Given the description of an element on the screen output the (x, y) to click on. 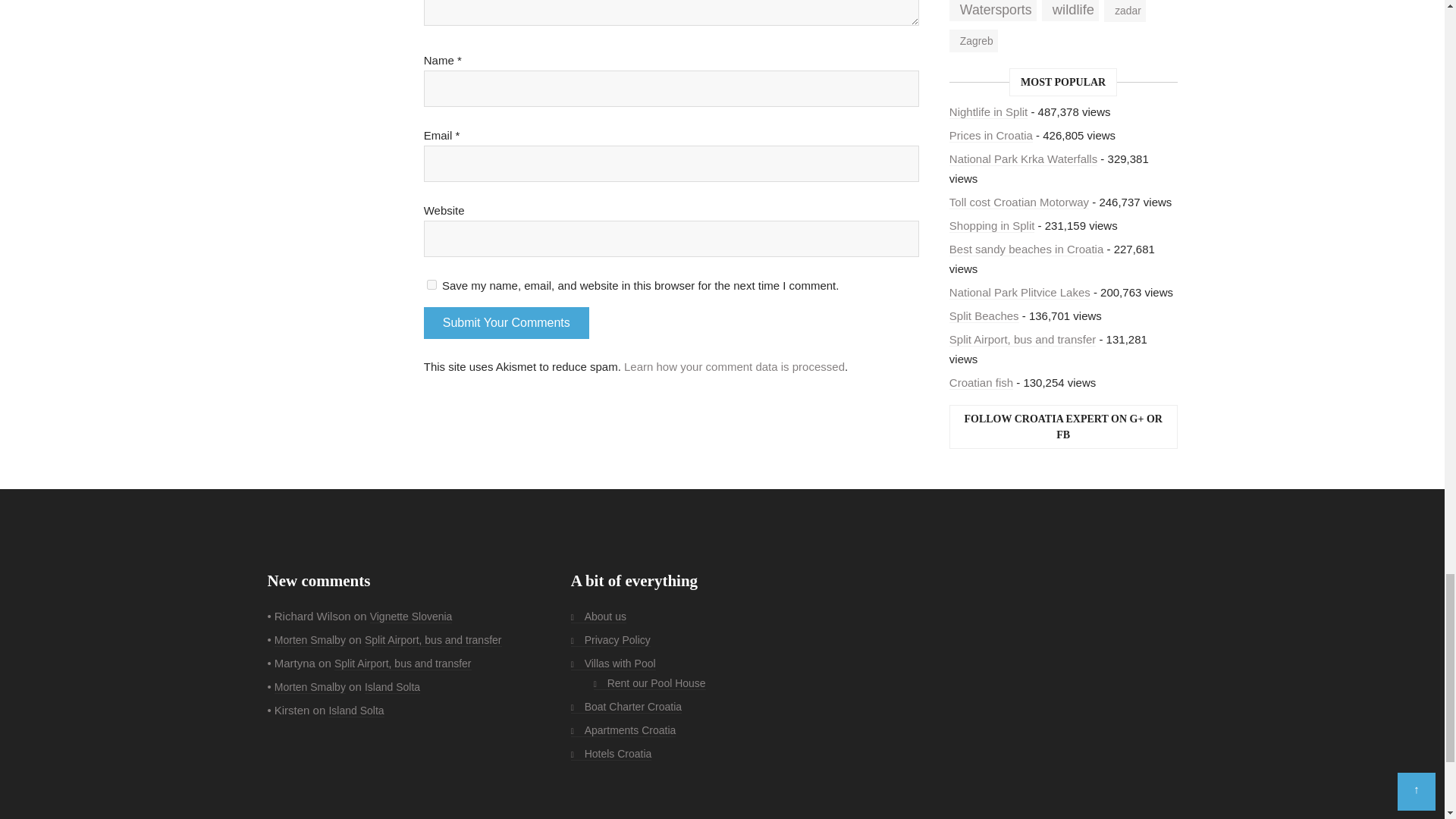
Submit Your Comments (506, 323)
yes (431, 284)
